Given the description of an element on the screen output the (x, y) to click on. 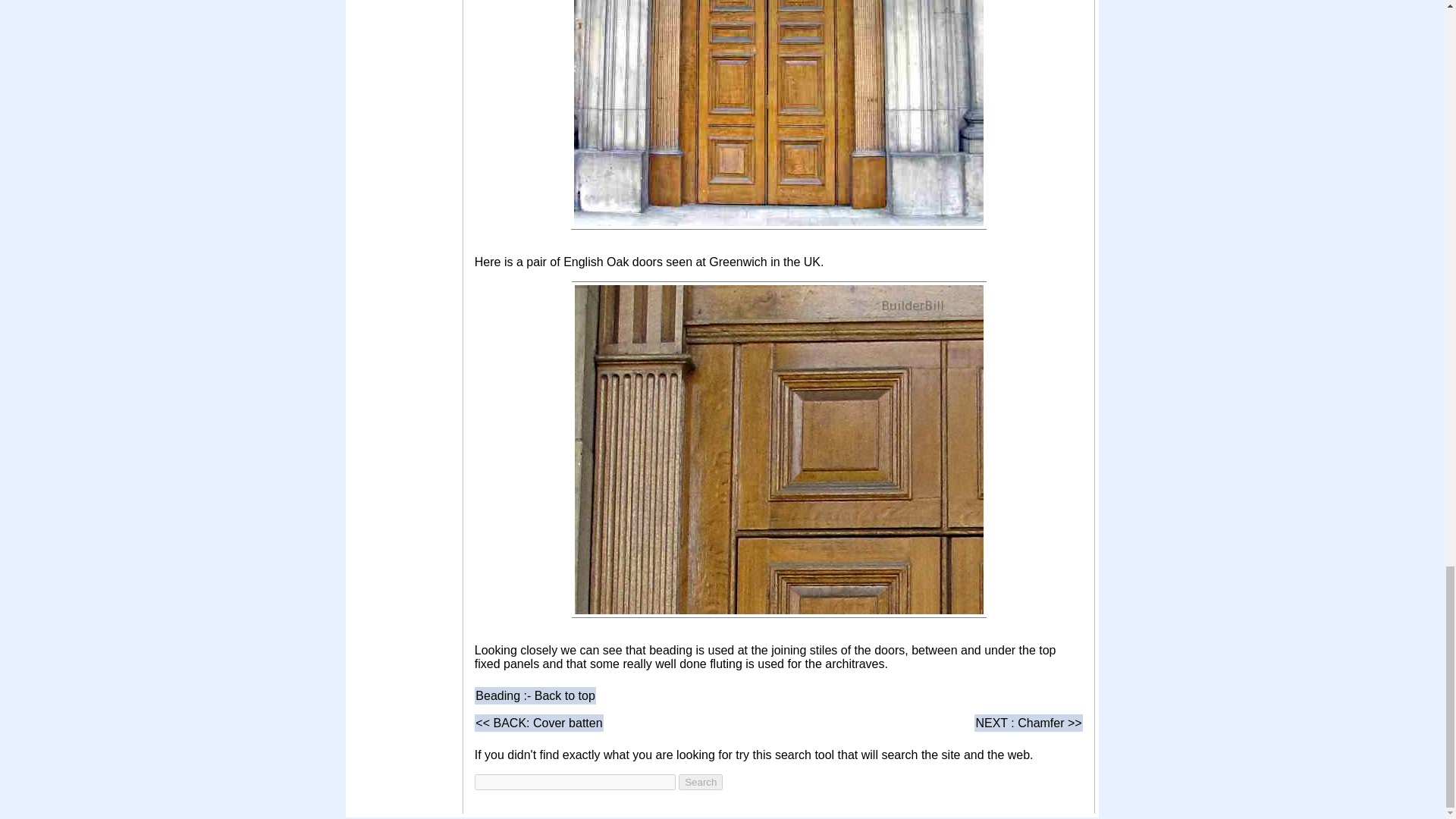
Search (700, 781)
Beading :- Back to top (535, 695)
Search (700, 781)
